Given the description of an element on the screen output the (x, y) to click on. 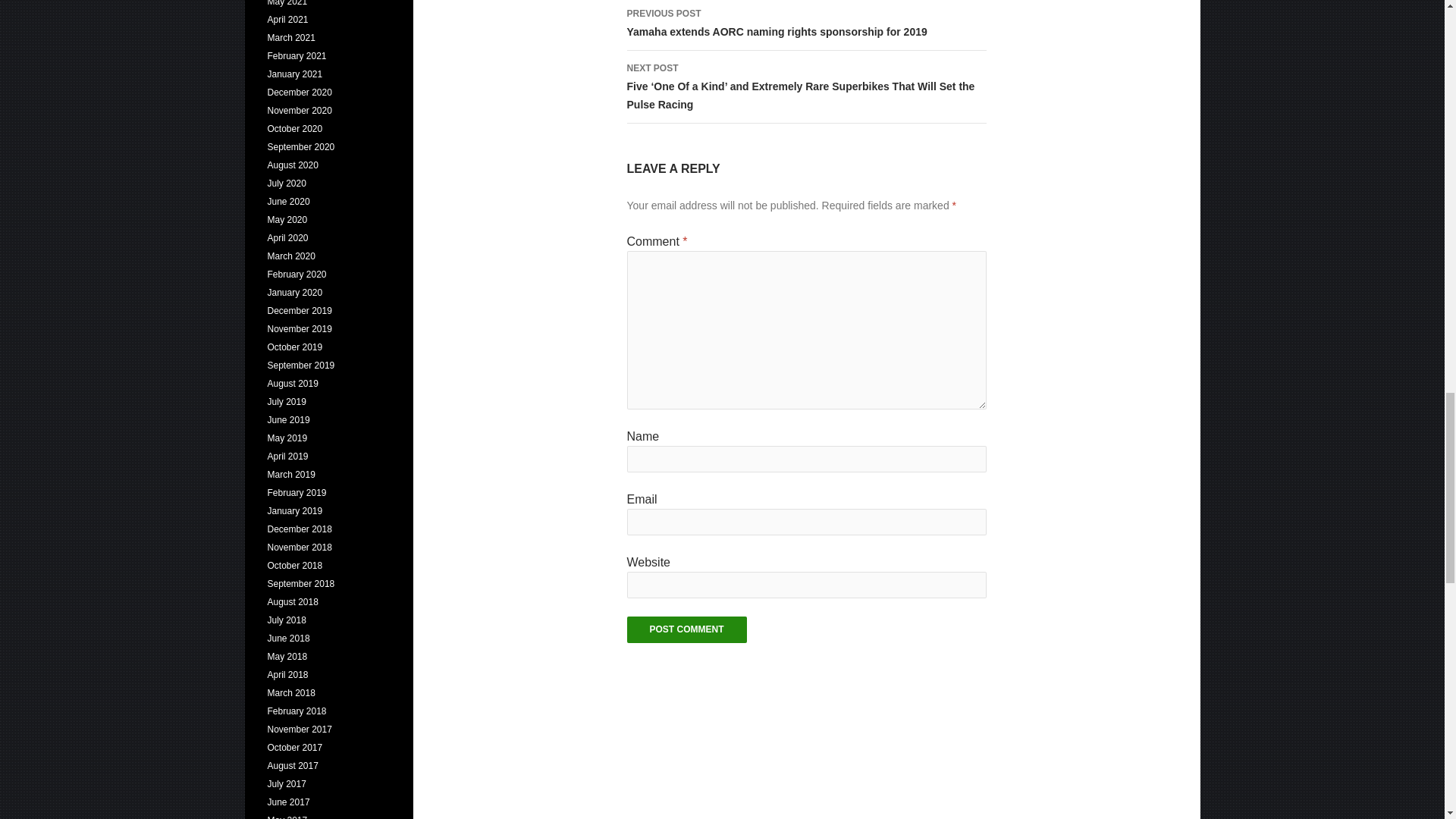
Post Comment (685, 629)
Post Comment (685, 629)
